Given the description of an element on the screen output the (x, y) to click on. 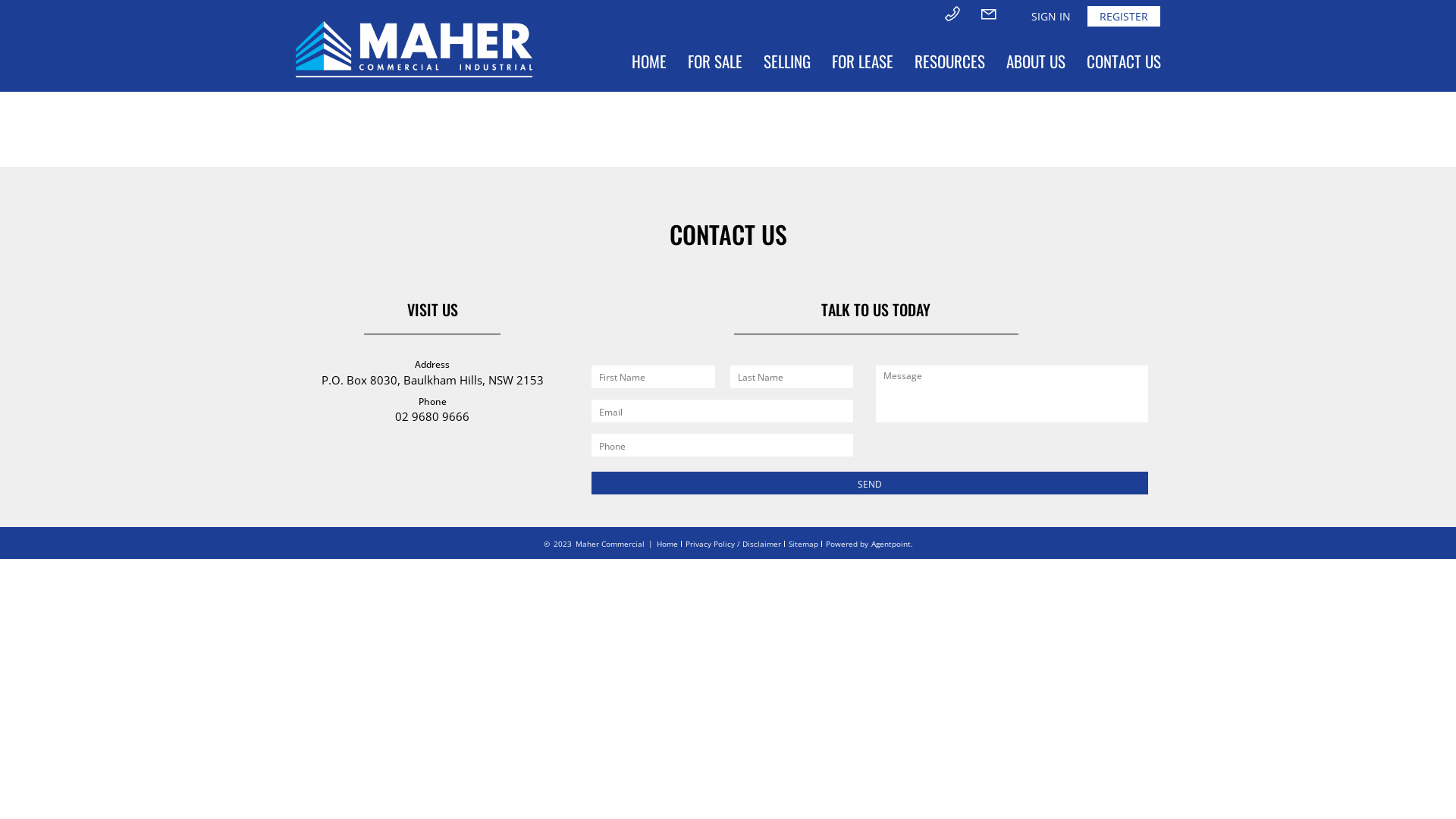
FOR SALE Element type: text (715, 61)
Agentpoint Element type: text (890, 543)
FOR LEASE Element type: text (862, 61)
RESOURCES Element type: text (949, 61)
SIGN IN Element type: text (1050, 16)
SELLING Element type: text (787, 61)
ABOUT US Element type: text (1035, 61)
CONTACT US Element type: text (1123, 61)
Privacy Policy / Disclaimer Element type: text (733, 543)
Home Element type: text (666, 543)
02 9680 9666 Element type: text (432, 415)
HOME Element type: text (649, 61)
Sitemap Element type: text (803, 543)
REGISTER Element type: text (1123, 16)
SEND Element type: text (869, 482)
